Given the description of an element on the screen output the (x, y) to click on. 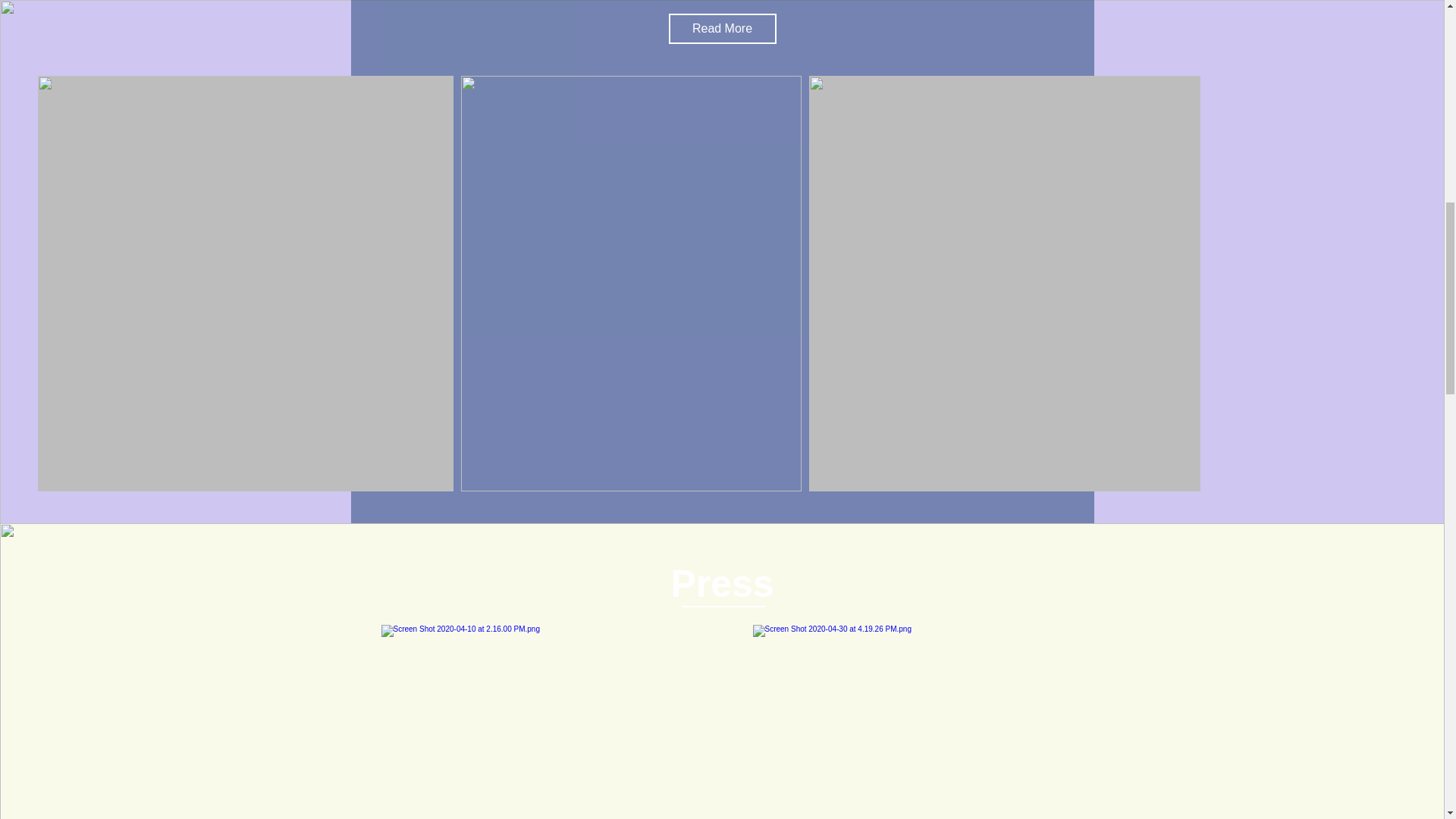
Read More (722, 28)
